Given the description of an element on the screen output the (x, y) to click on. 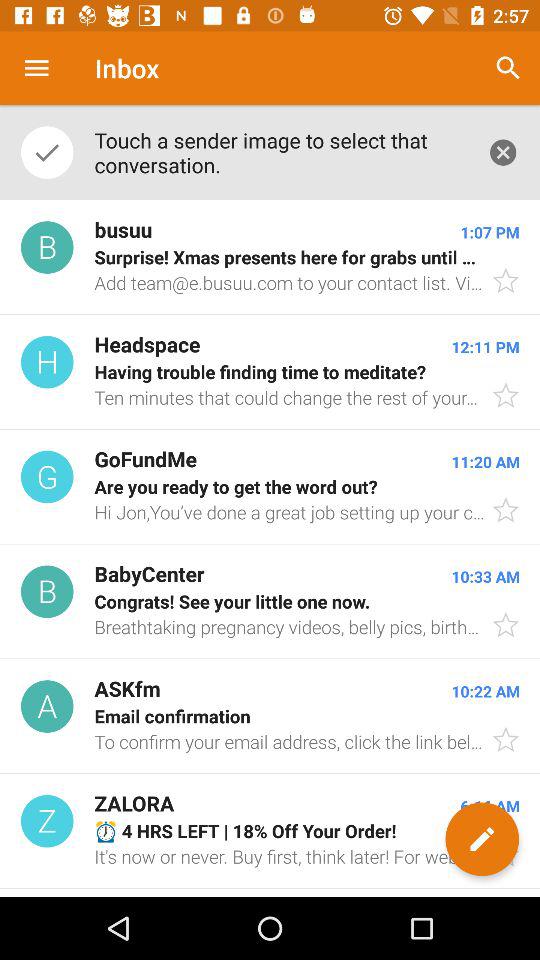
click the icon at the bottom right corner (482, 839)
